Given the description of an element on the screen output the (x, y) to click on. 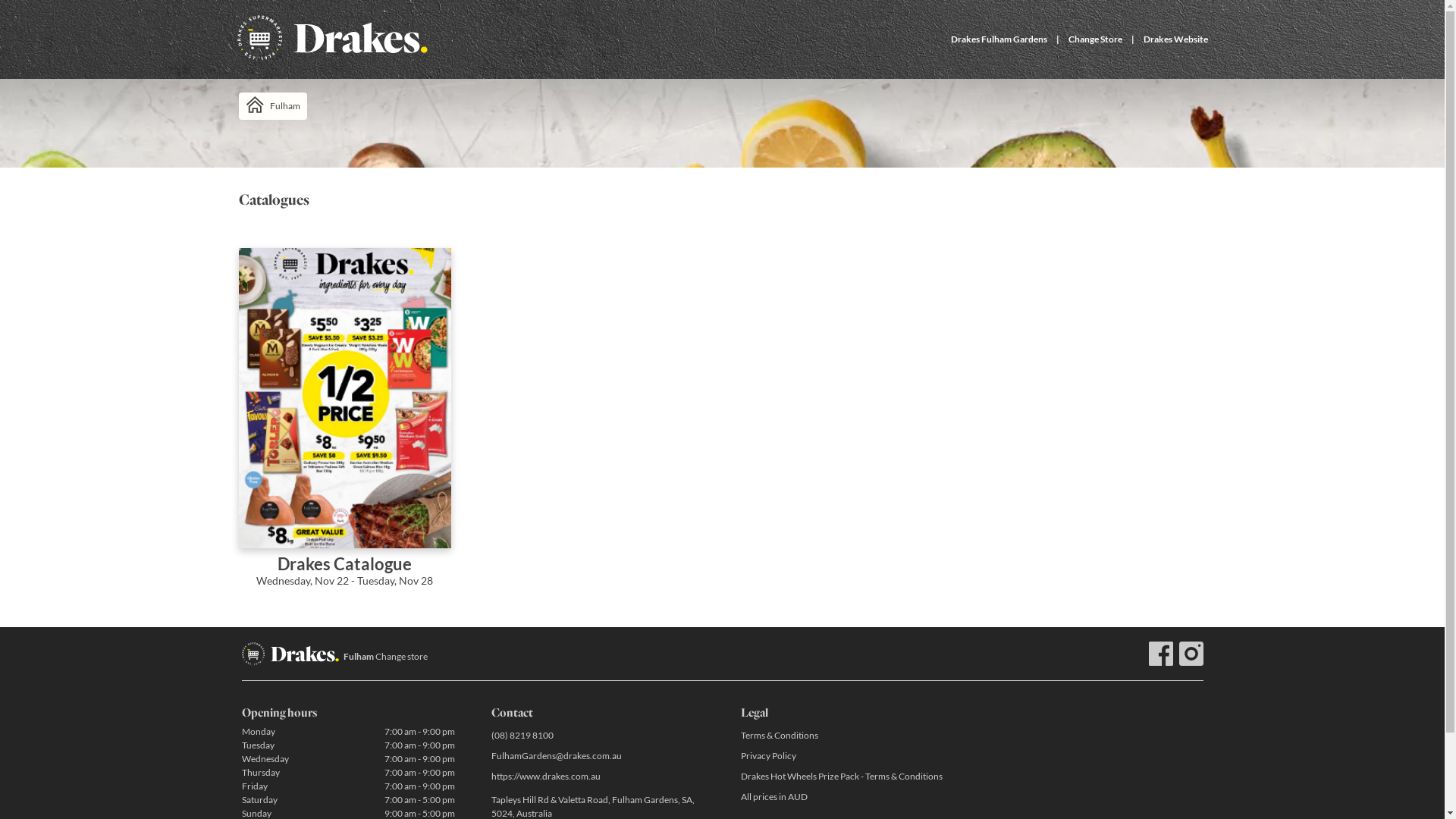
Privacy Policy Element type: text (846, 755)
Fulham Change store Element type: text (384, 656)
Change Store Element type: text (1094, 38)
Facebook Element type: hover (1160, 653)
https://www.drakes.com.au Element type: text (597, 775)
Drakes Catalogue
Wednesday, Nov 22 - Tuesday, Nov 28 Element type: text (344, 427)
FulhamGardens@drakes.com.au Element type: text (597, 755)
(08) 8219 8100 Element type: text (597, 734)
Fulham Element type: text (272, 105)
Drakes Website Element type: text (1175, 38)
Terms & Conditions Element type: text (846, 734)
Drakes Hot Wheels Prize Pack - Terms & Conditions Element type: text (846, 775)
Instagram drakessupermarkets Element type: hover (1190, 653)
